Given the description of an element on the screen output the (x, y) to click on. 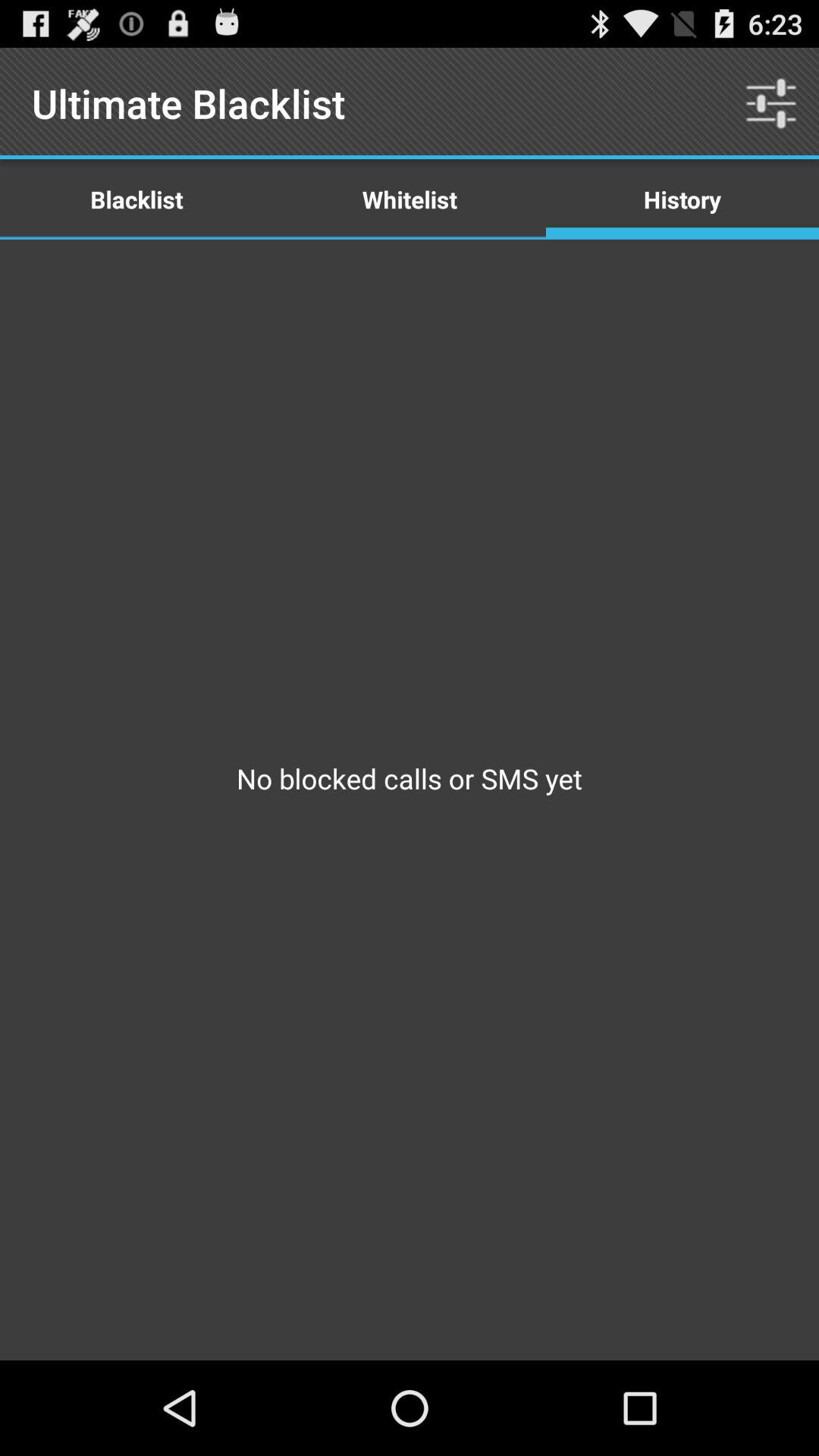
turn off icon next to the whitelist icon (771, 103)
